Given the description of an element on the screen output the (x, y) to click on. 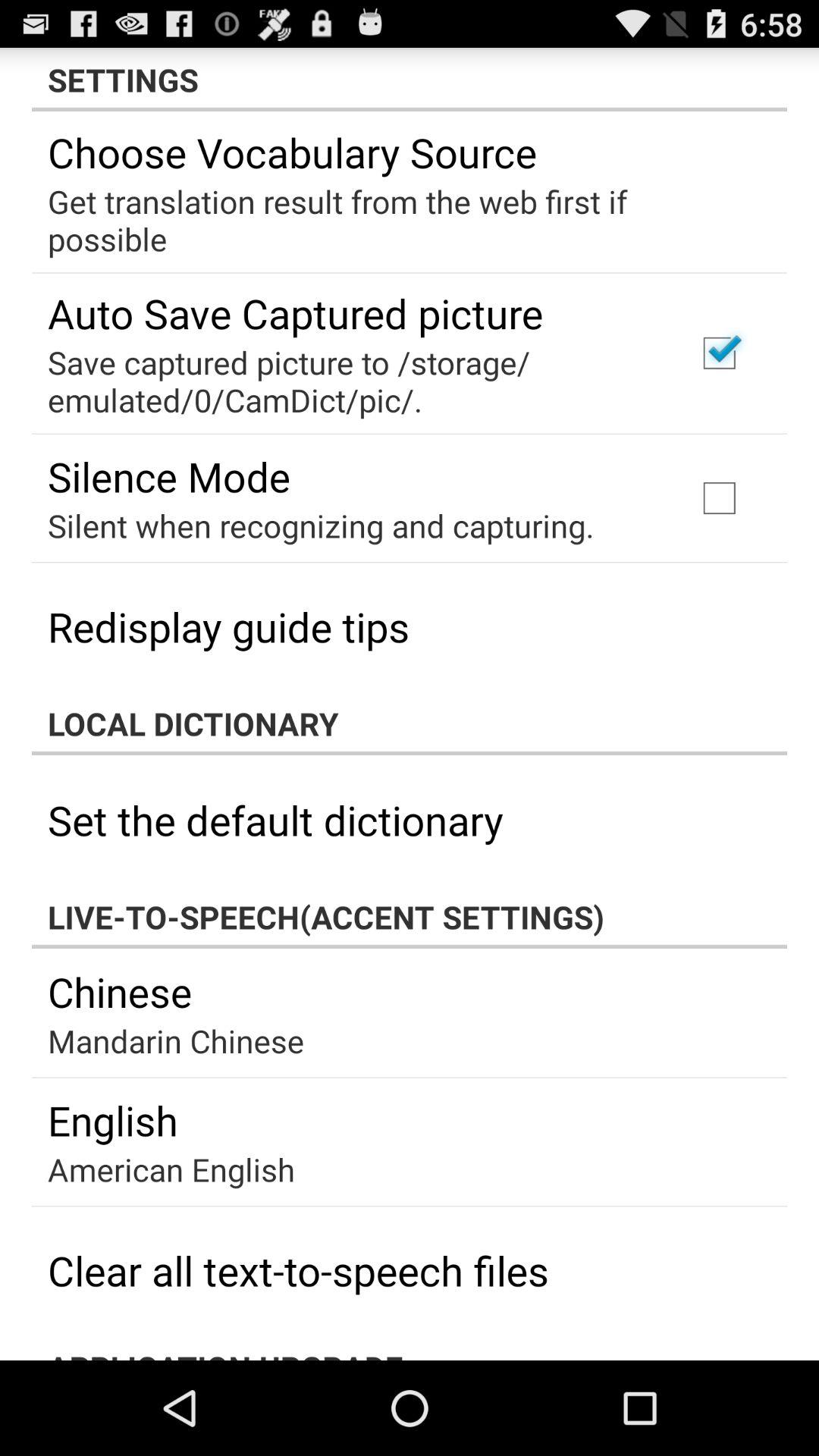
choose item at the top left corner (168, 475)
